Given the description of an element on the screen output the (x, y) to click on. 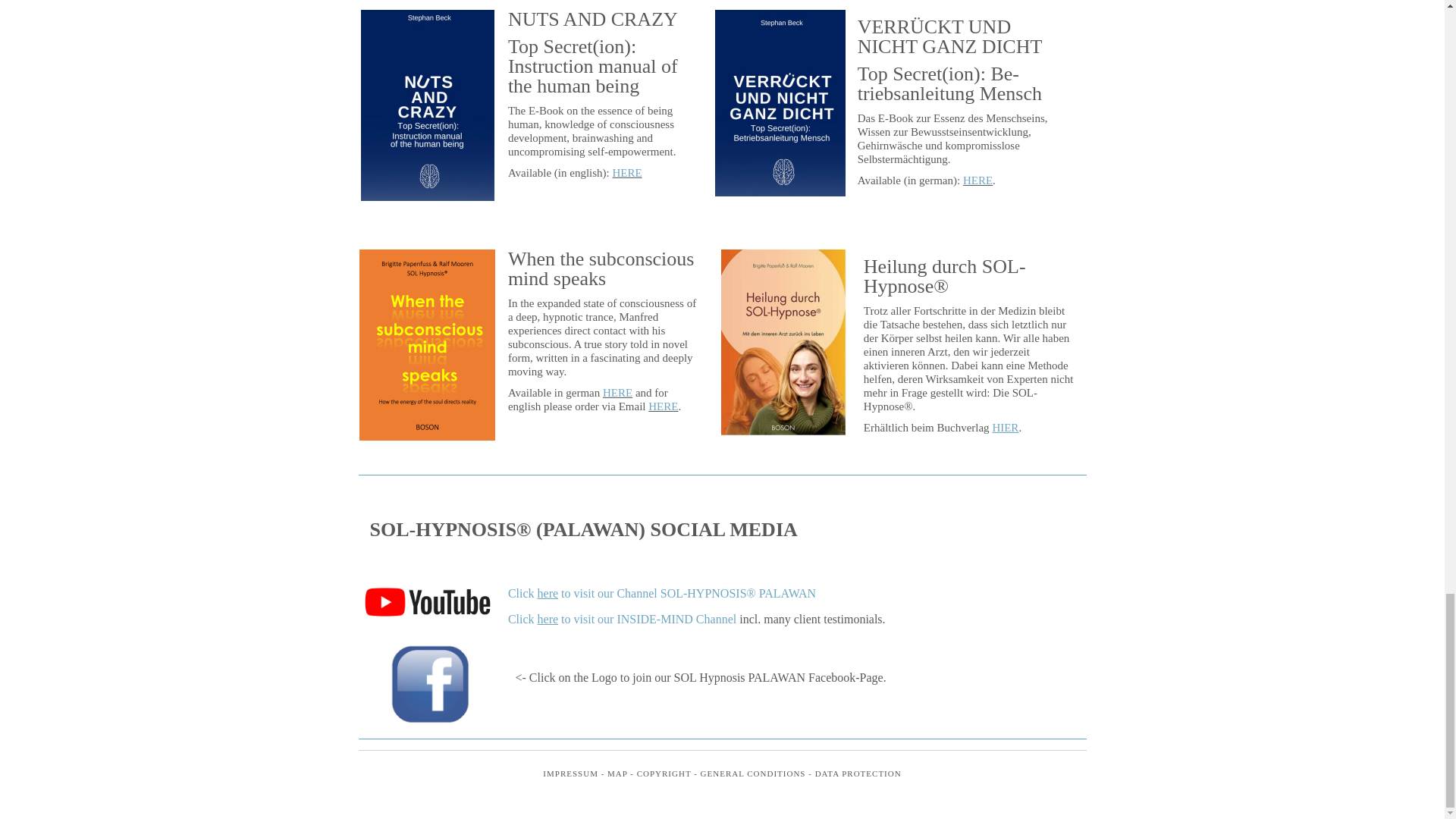
HIER (1004, 427)
HERE (977, 180)
Click here to visit our INSIDE-MIND Channel (622, 618)
HERE (662, 406)
HERE (627, 173)
HERE (616, 392)
